Given the description of an element on the screen output the (x, y) to click on. 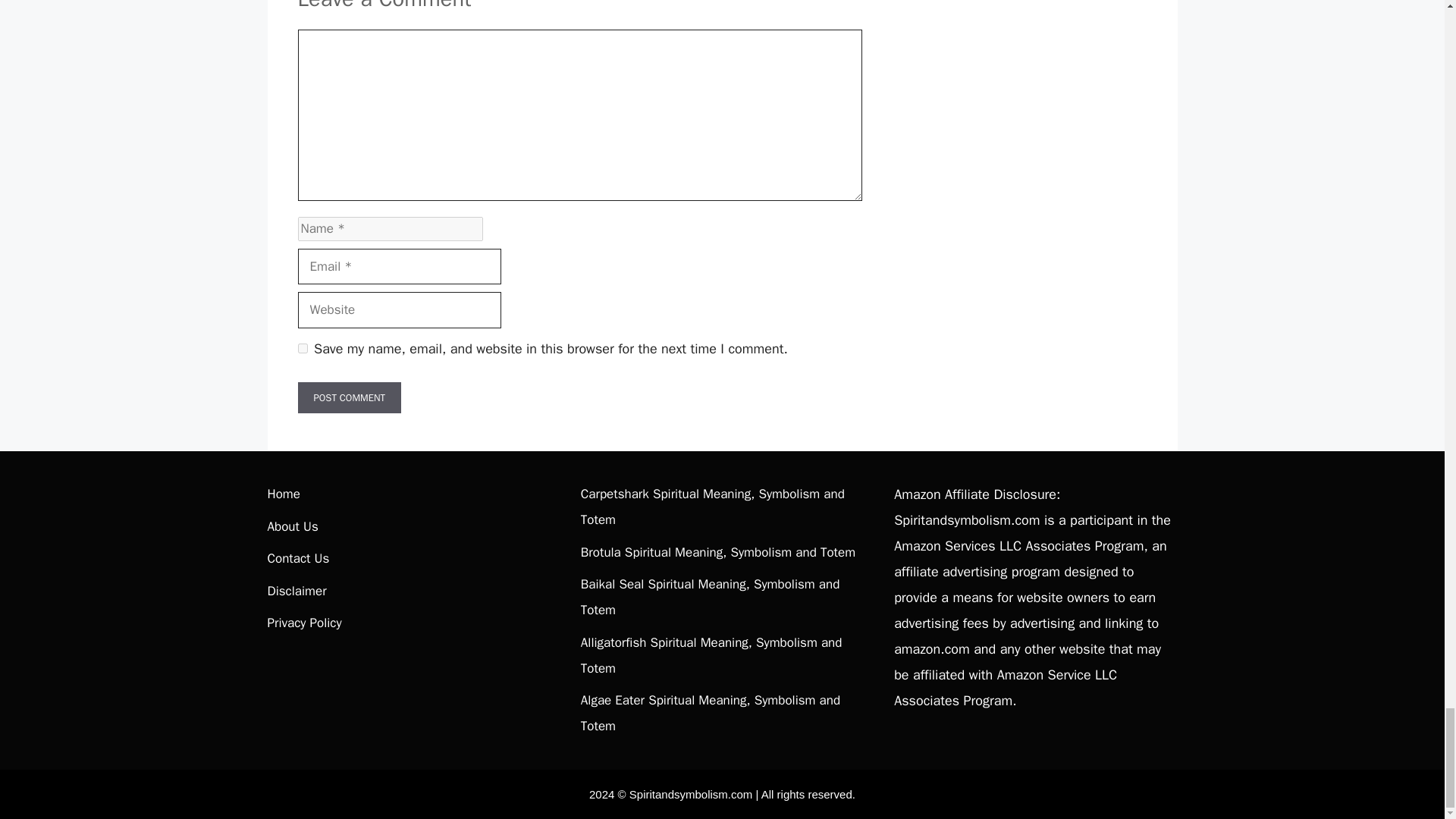
Carpetshark Spiritual Meaning, Symbolism and Totem (712, 506)
Contact Us (297, 558)
Post Comment (349, 398)
About Us (291, 526)
Disclaimer (296, 590)
Privacy Policy (303, 622)
yes (302, 347)
Post Comment (349, 398)
Home (282, 494)
